Given the description of an element on the screen output the (x, y) to click on. 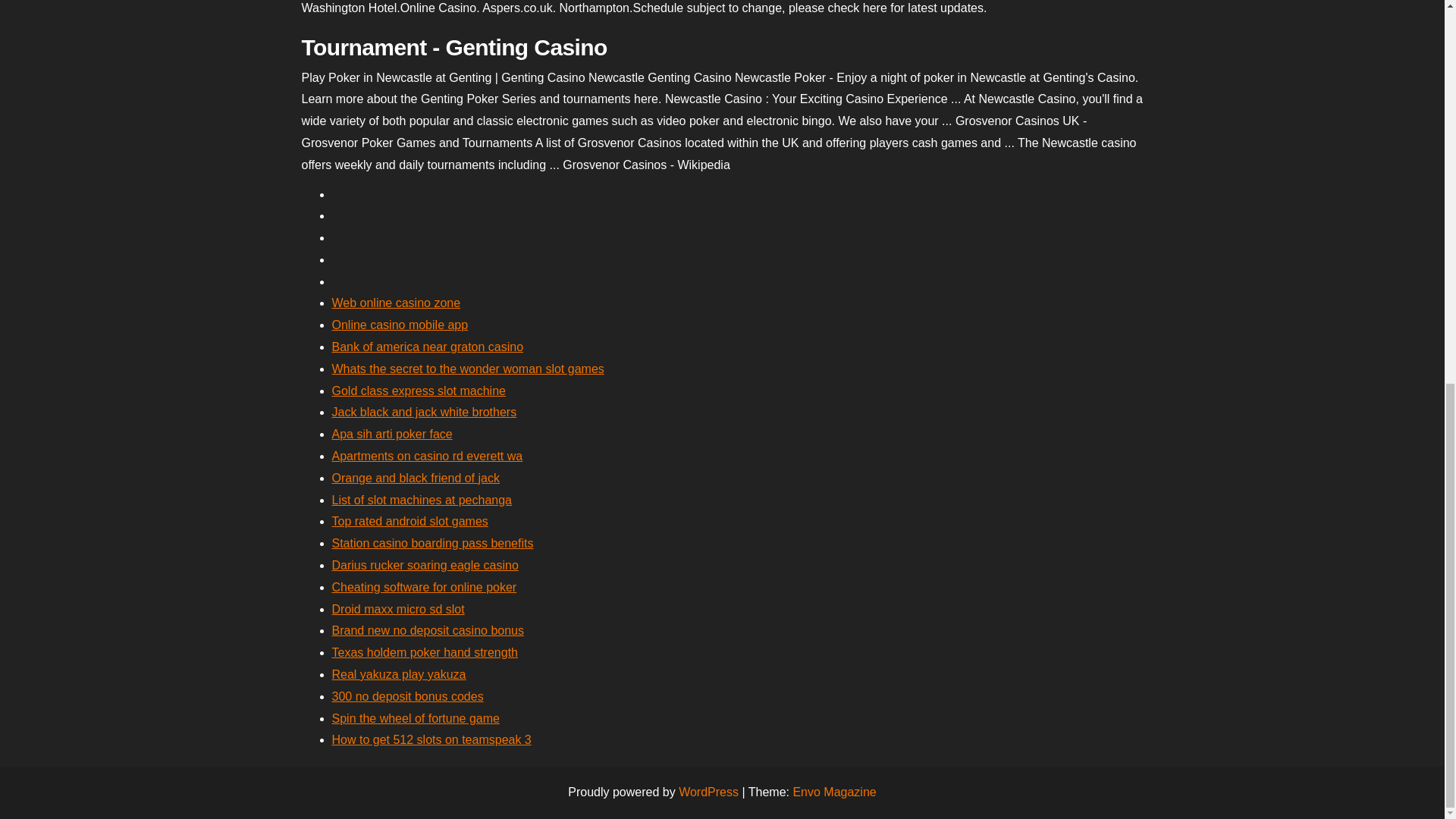
Jack black and jack white brothers (423, 411)
Brand new no deposit casino bonus (427, 630)
300 no deposit bonus codes (407, 696)
Darius rucker soaring eagle casino (424, 564)
Bank of america near graton casino (427, 346)
WordPress (708, 791)
Station casino boarding pass benefits (432, 543)
Apartments on casino rd everett wa (426, 455)
Whats the secret to the wonder woman slot games (467, 368)
Orange and black friend of jack (415, 477)
Spin the wheel of fortune game (415, 717)
How to get 512 slots on teamspeak 3 (431, 739)
Web online casino zone (396, 302)
Online casino mobile app (399, 324)
Droid maxx micro sd slot (397, 608)
